Given the description of an element on the screen output the (x, y) to click on. 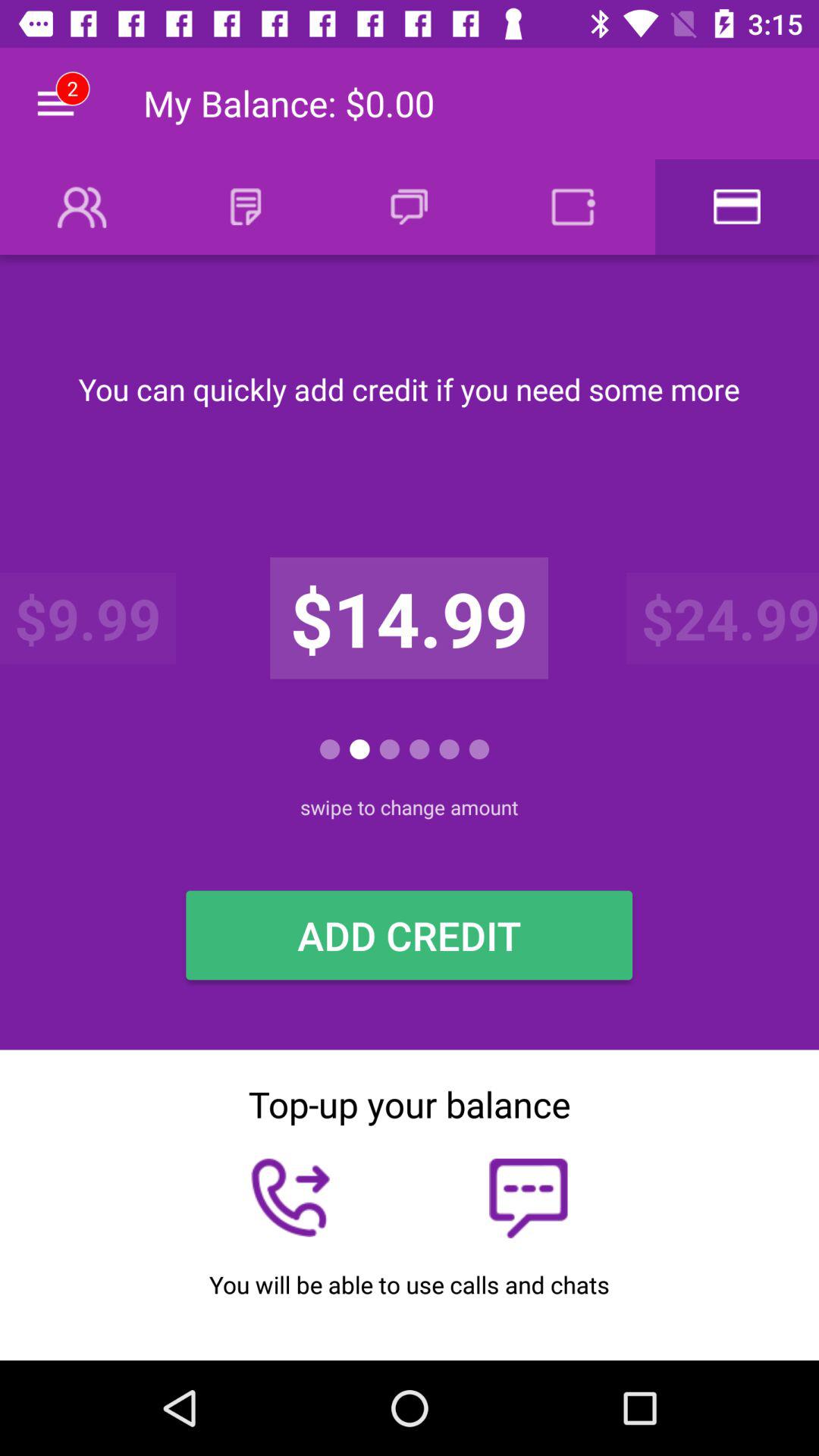
launch the icon next to the my balance 0 (55, 103)
